Given the description of an element on the screen output the (x, y) to click on. 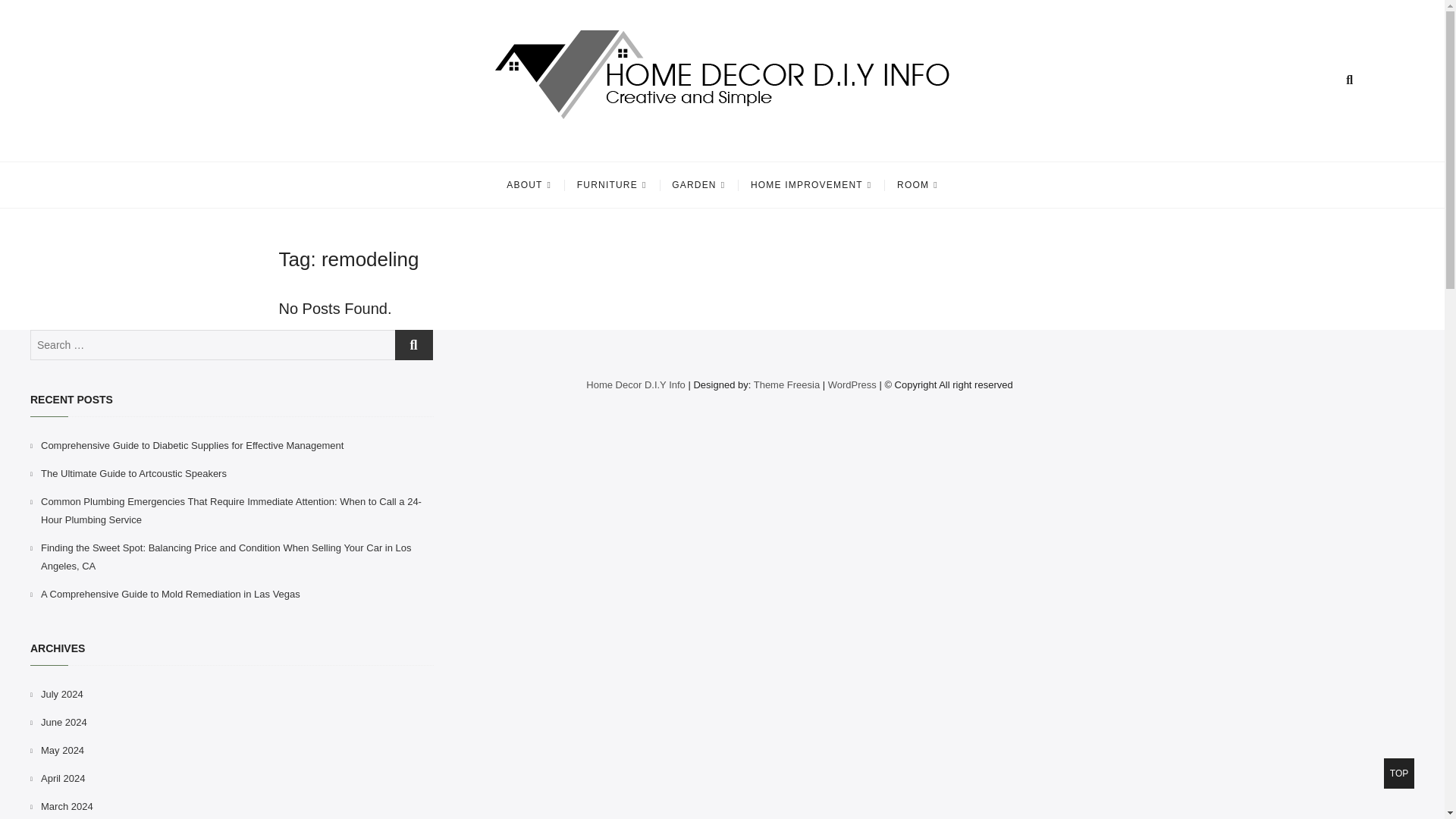
GARDEN (698, 185)
HOME IMPROVEMENT (810, 185)
FURNITURE (612, 185)
Home Decor D.I.Y Info (635, 384)
WordPress (852, 384)
Home Decor D.I.Y Info (441, 141)
ABOUT (528, 185)
Home Decor D.I.Y Info (441, 141)
Theme Freesia (786, 384)
